Given the description of an element on the screen output the (x, y) to click on. 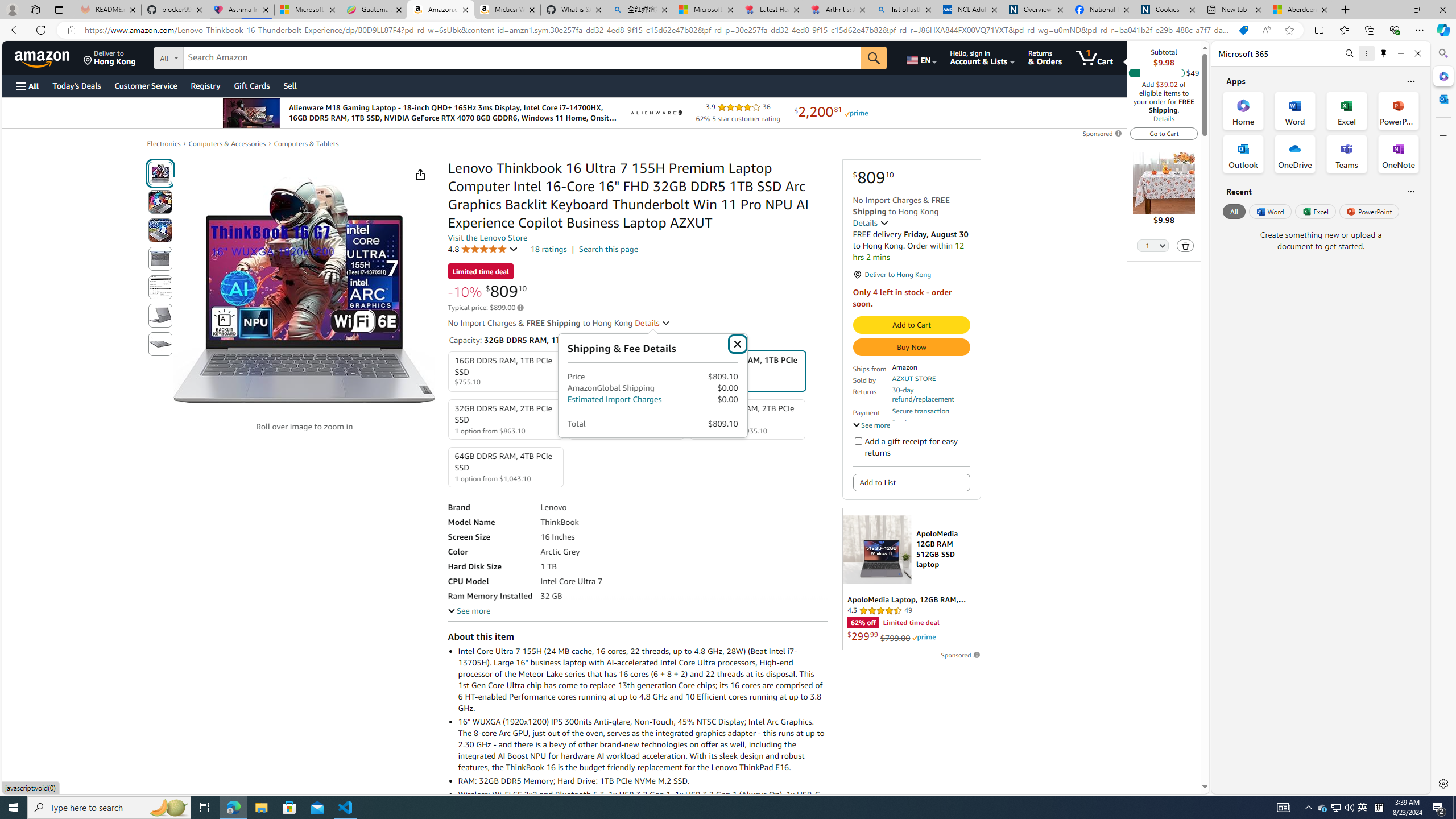
RAM: 32GB DDR5 Memory; Hard Drive: 1TB PCIe NVMe M.2 SSD. (642, 780)
Open Menu (26, 86)
Quantity Selector (1153, 246)
Search in (210, 56)
1 item in cart (1094, 57)
Excel Office App (1346, 110)
Customer Service (145, 85)
Excel (1315, 210)
Computers & Tablets (306, 143)
30-day refund/replacement (930, 394)
